Given the description of an element on the screen output the (x, y) to click on. 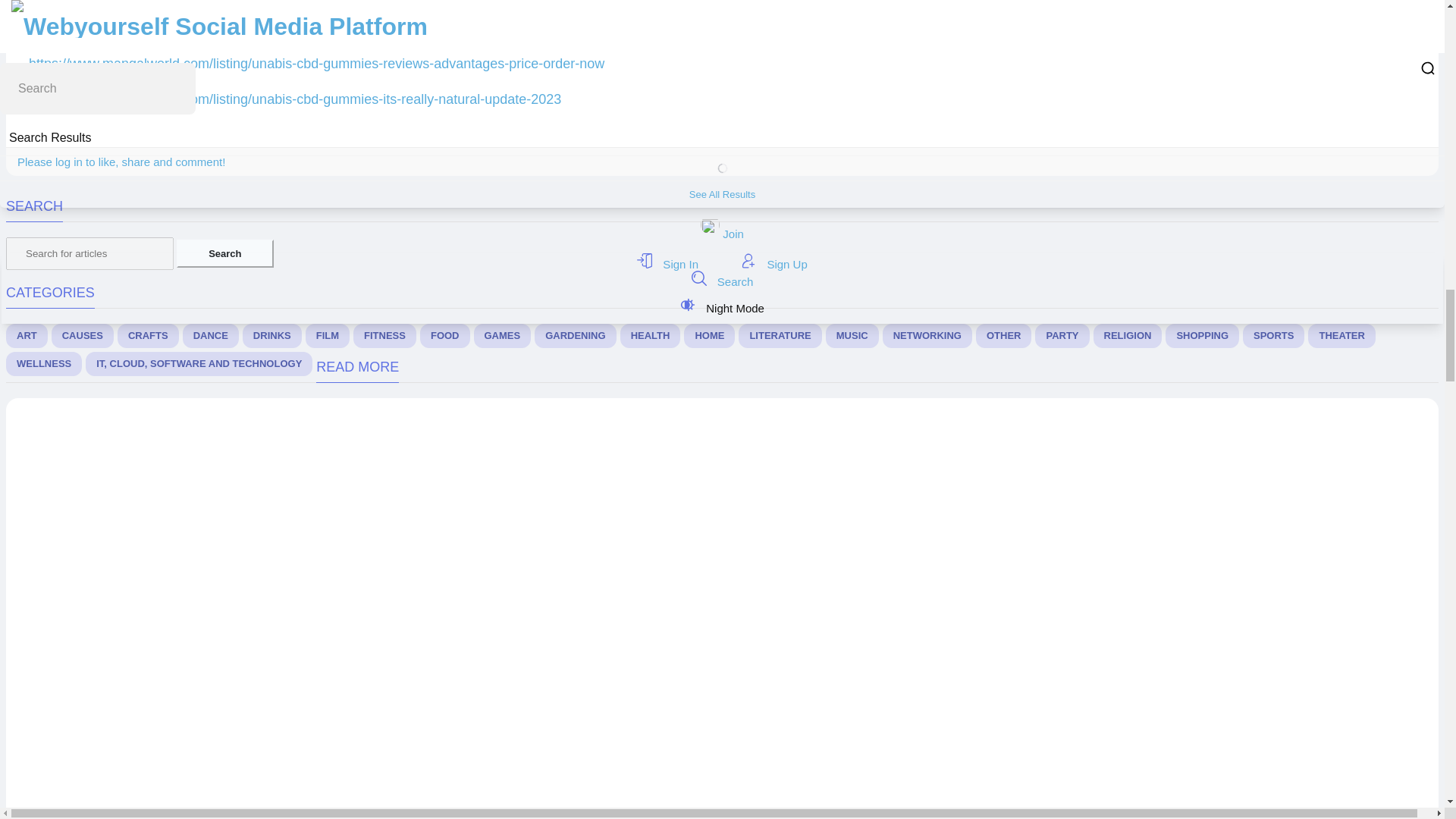
Please log in to like, share and comment! (121, 161)
CRAFTS (148, 335)
Search (224, 253)
ART (26, 335)
DRINKS (272, 335)
CAUSES (81, 335)
DANCE (210, 335)
